Given the description of an element on the screen output the (x, y) to click on. 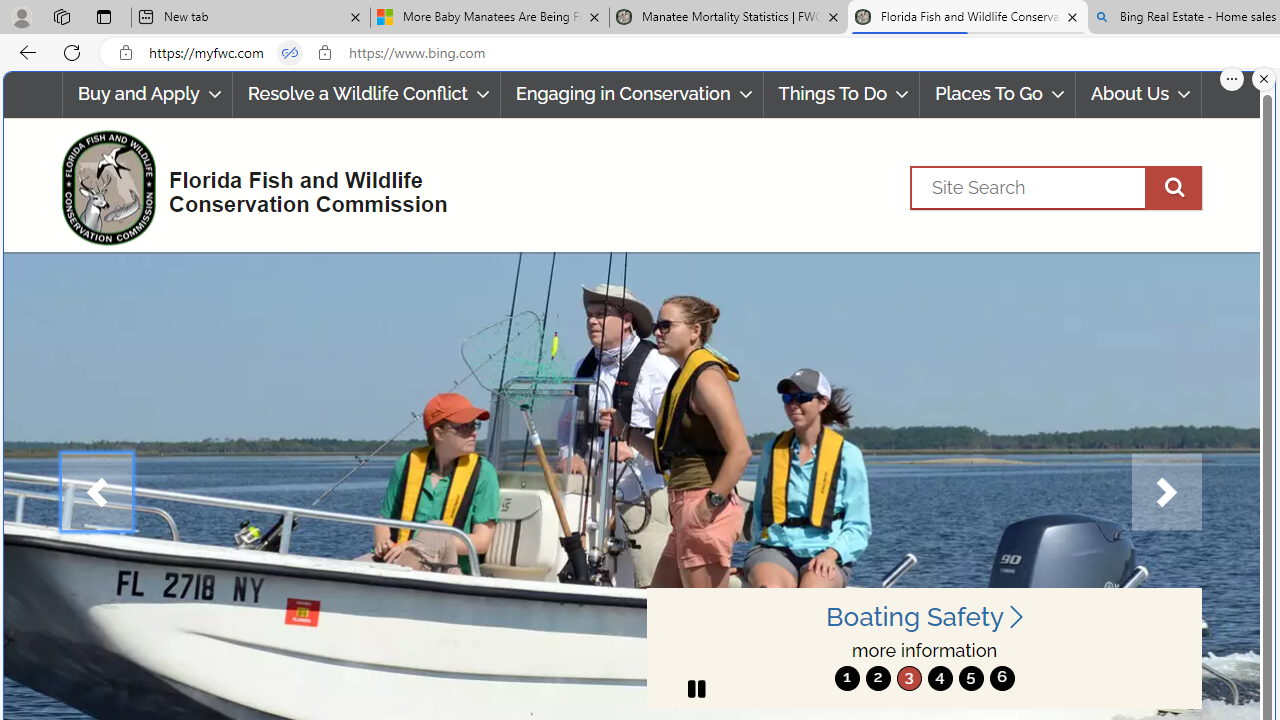
Buy and Apply (146, 94)
move to slide 6 (1002, 678)
View site information (324, 53)
Buy and Apply (146, 94)
5 (970, 678)
Close tab (1072, 16)
move to slide 4 (939, 678)
4 (939, 678)
move to slide 2 (877, 678)
Places To Go (998, 94)
About Us (1139, 94)
Tabs in split screen (289, 53)
Workspaces (61, 16)
Close split screen. (1264, 79)
Florida Fish and Wildlife Conservation Commission | FWC (967, 17)
